Given the description of an element on the screen output the (x, y) to click on. 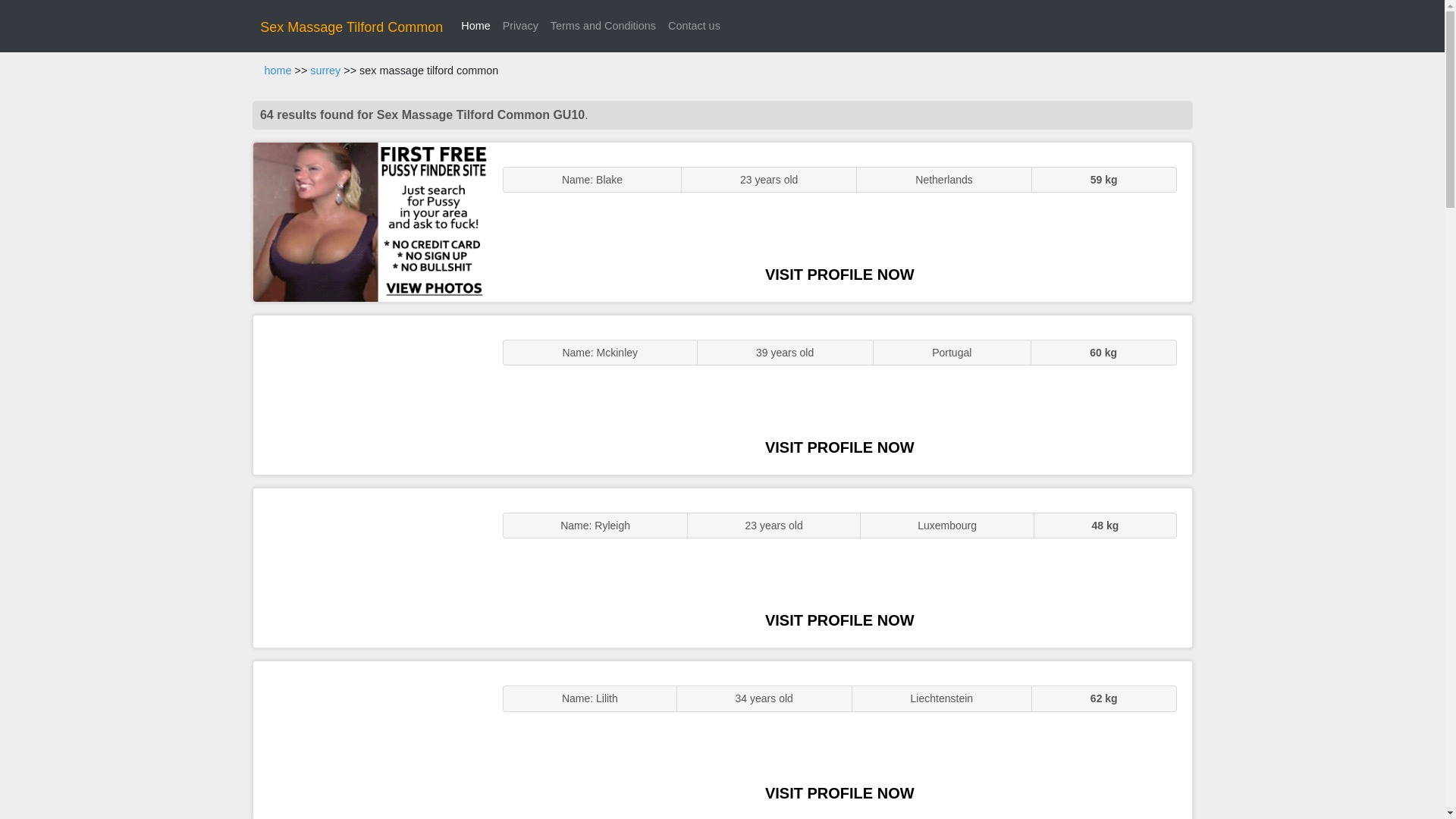
Contact us (694, 25)
Terms and Conditions (603, 25)
surrey (325, 70)
GFE (370, 395)
VISIT PROFILE NOW (839, 619)
Privacy (520, 25)
Sluts (370, 739)
Sex Massage Tilford Common (351, 27)
VISIT PROFILE NOW (839, 792)
Sexy (370, 567)
